Given the description of an element on the screen output the (x, y) to click on. 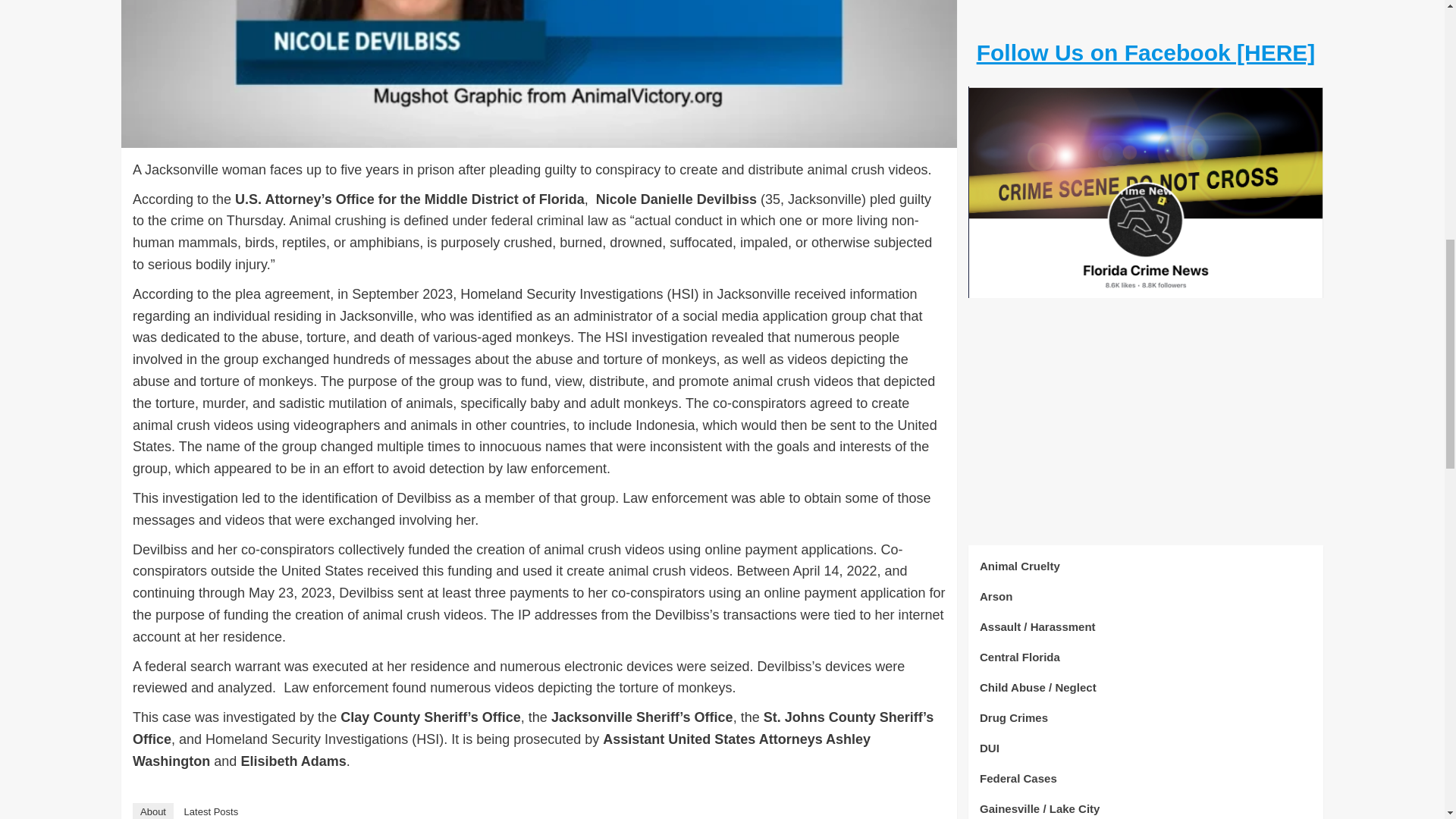
Advertisement (1145, 34)
Latest Posts (211, 811)
About (152, 811)
